Given the description of an element on the screen output the (x, y) to click on. 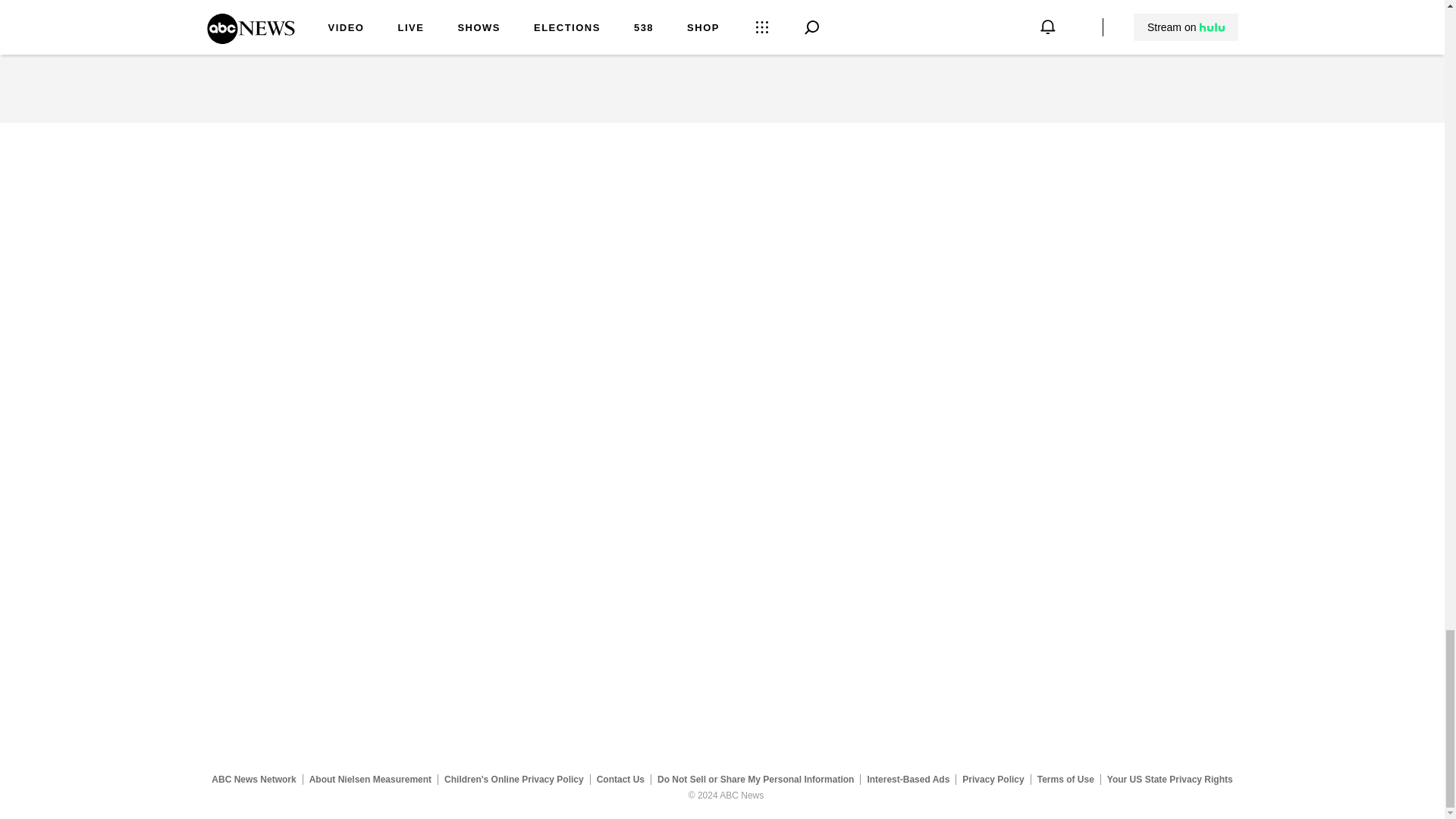
Contact Us (620, 778)
Privacy Policy (993, 778)
About Nielsen Measurement (370, 778)
Do Not Sell or Share My Personal Information (755, 778)
Your US State Privacy Rights (1169, 778)
Interest-Based Ads (908, 778)
Children's Online Privacy Policy (514, 778)
ABC News Network (253, 778)
Terms of Use (1065, 778)
